Given the description of an element on the screen output the (x, y) to click on. 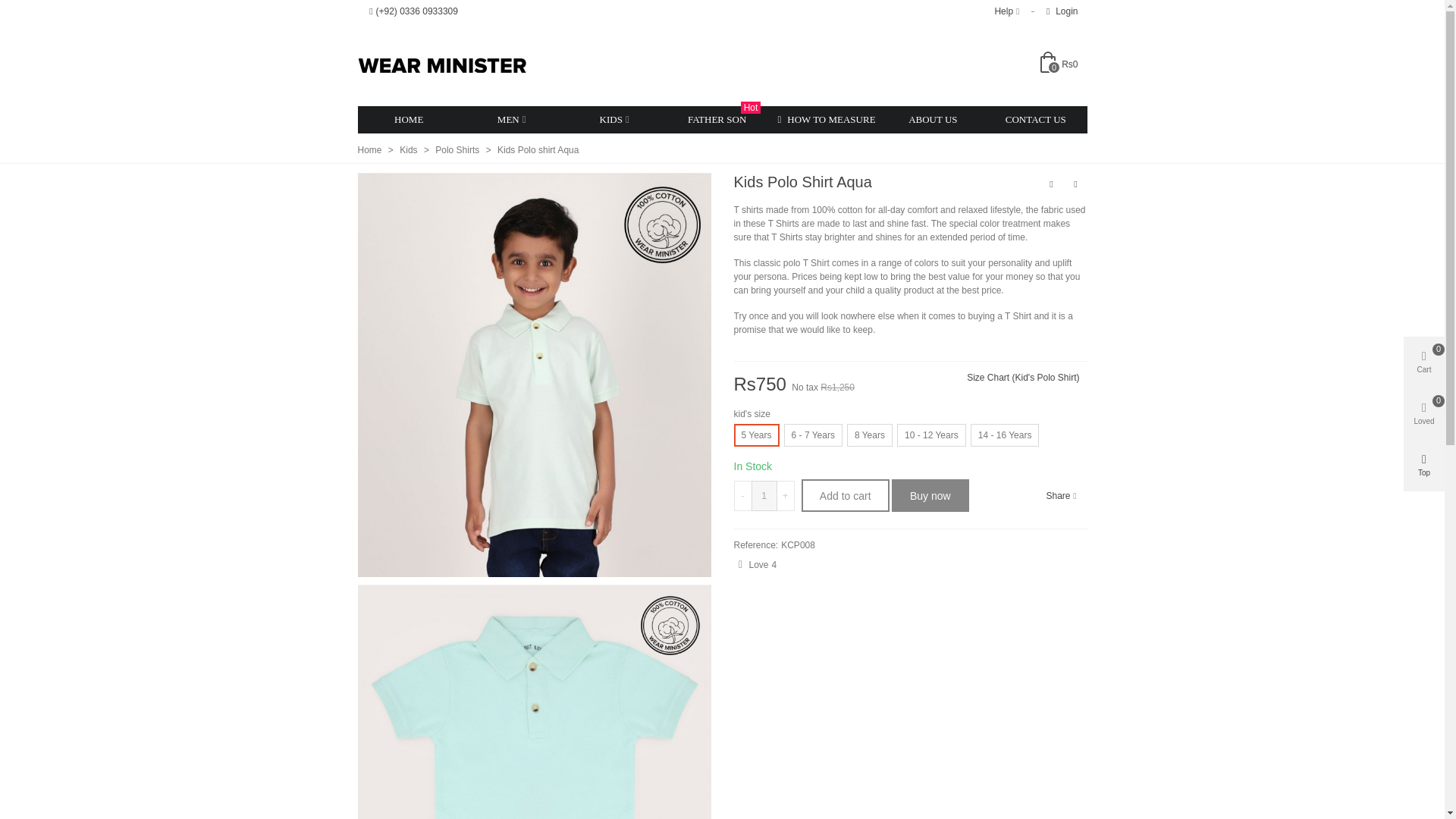
KIDS (613, 119)
HOW TO MEASURE (824, 119)
Log in to your customer account (1058, 11)
Father Son (716, 119)
HOME (409, 119)
Men (511, 119)
Polo Shirts (458, 149)
Refresh (29, 12)
Buy now (930, 495)
Love4 (755, 564)
Kids (1060, 64)
Wear Minister (409, 149)
Kids (441, 63)
